Given the description of an element on the screen output the (x, y) to click on. 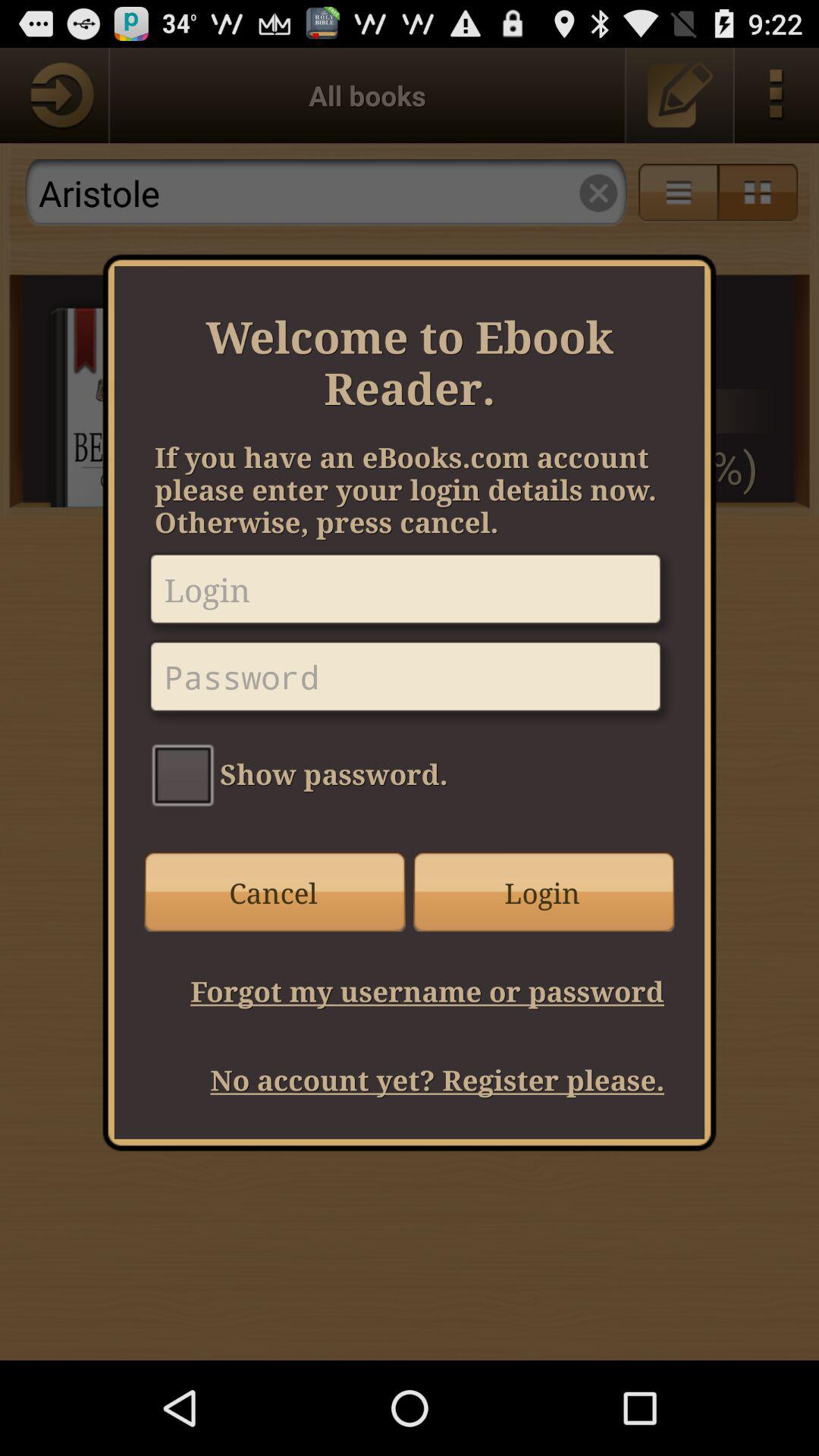
login (409, 594)
